Given the description of an element on the screen output the (x, y) to click on. 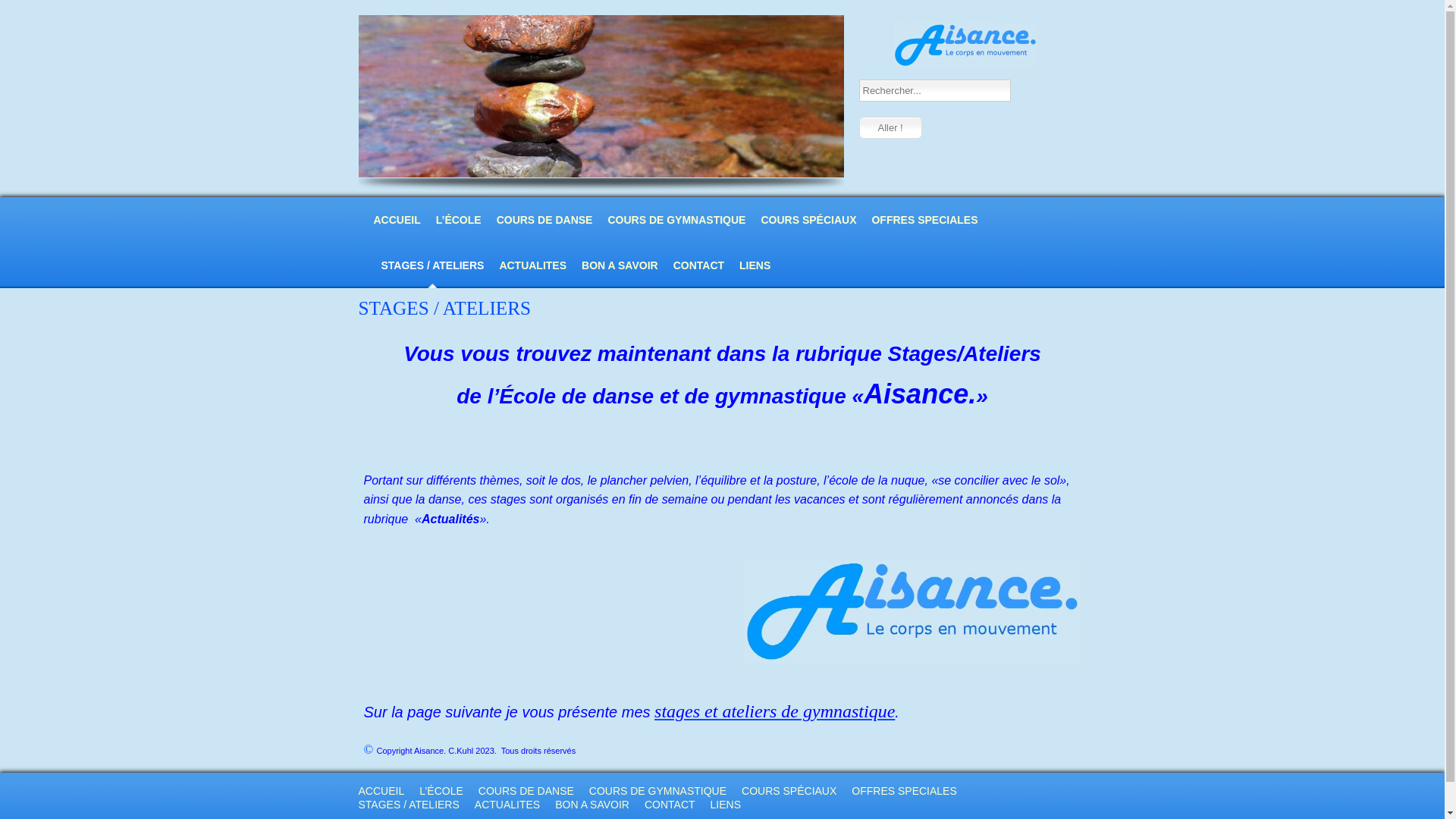
COURS DE GYMNASTIQUE Element type: text (676, 219)
OFFRES SPECIALES Element type: text (903, 790)
ACTUALITES Element type: text (532, 265)
BON A SAVOIR Element type: text (619, 265)
BON A SAVOIR Element type: text (592, 804)
COURS DE DANSE Element type: text (526, 790)
ACTUALITES Element type: text (506, 804)
OFFRES SPECIALES Element type: text (924, 219)
CONTACT Element type: text (698, 265)
LIENS Element type: text (754, 265)
STAGES / ATELIERS Element type: text (407, 804)
COURS DE GYMNASTIQUE Element type: text (657, 790)
stages et ateliers de gymnastique Element type: text (774, 711)
STAGES / ATELIERS Element type: text (431, 265)
COURS DE DANSE Element type: text (544, 219)
ACCUEIL Element type: text (396, 219)
ACCUEIL Element type: text (380, 790)
CONTACT Element type: text (669, 804)
LIENS Element type: text (725, 804)
